Given the description of an element on the screen output the (x, y) to click on. 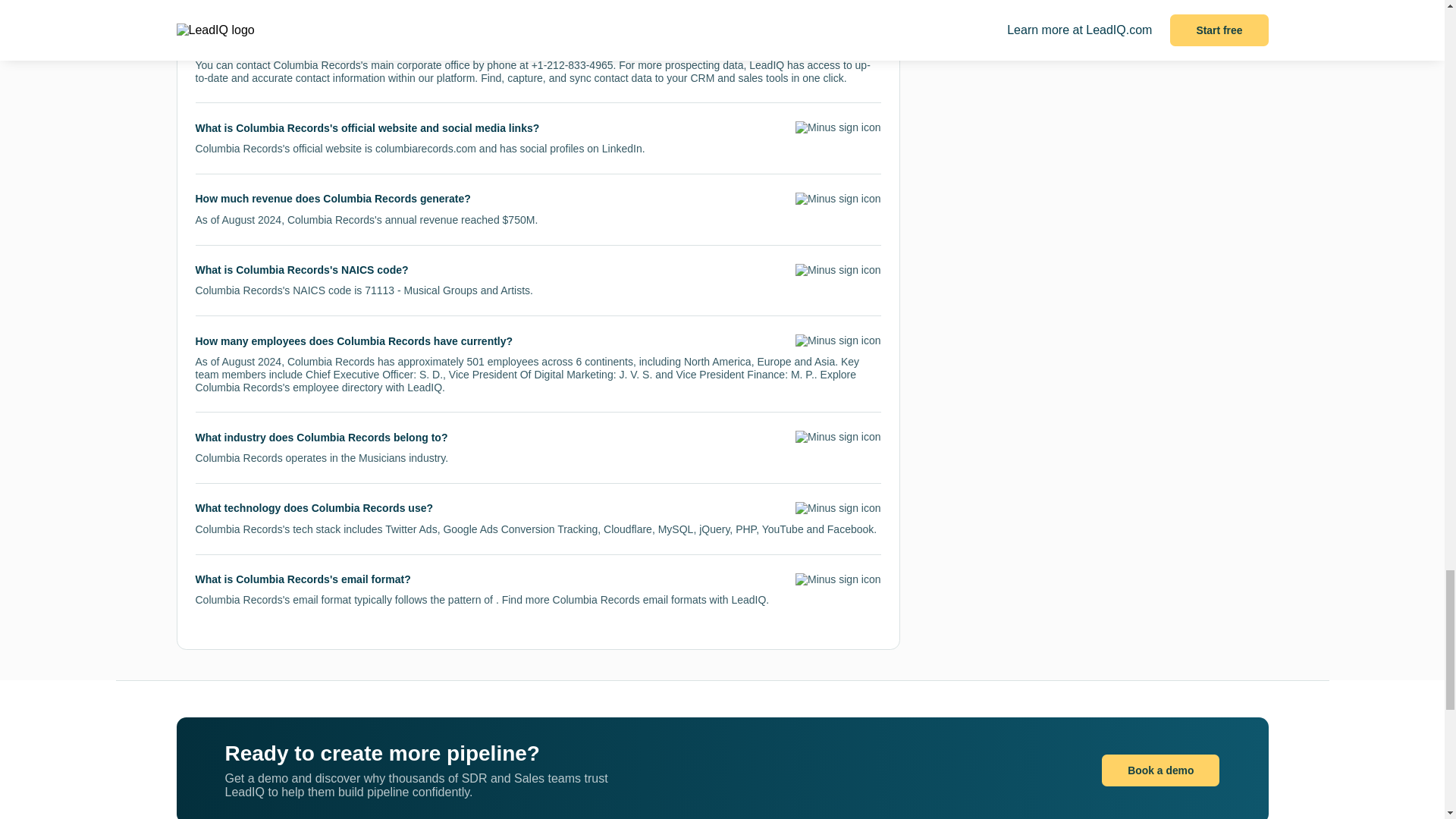
Columbia Records's employee directory (288, 387)
columbiarecords.com (425, 148)
Find more Columbia Records email formats (604, 599)
LinkedIn (622, 148)
